Given the description of an element on the screen output the (x, y) to click on. 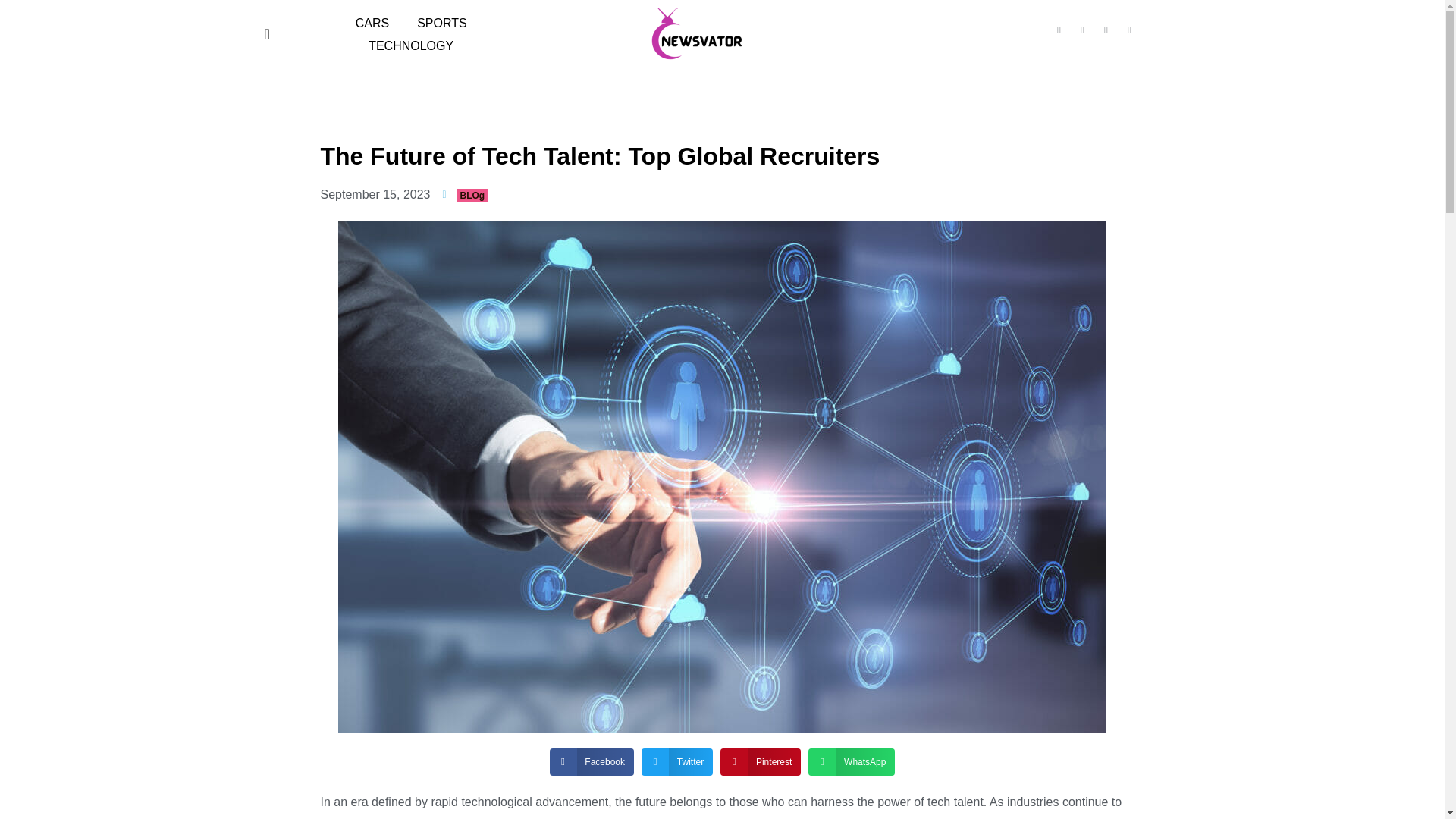
CARS (363, 23)
SPORTS (434, 23)
September 15, 2023 (374, 194)
BLOg (472, 195)
TECHNOLOGY (402, 46)
